Given the description of an element on the screen output the (x, y) to click on. 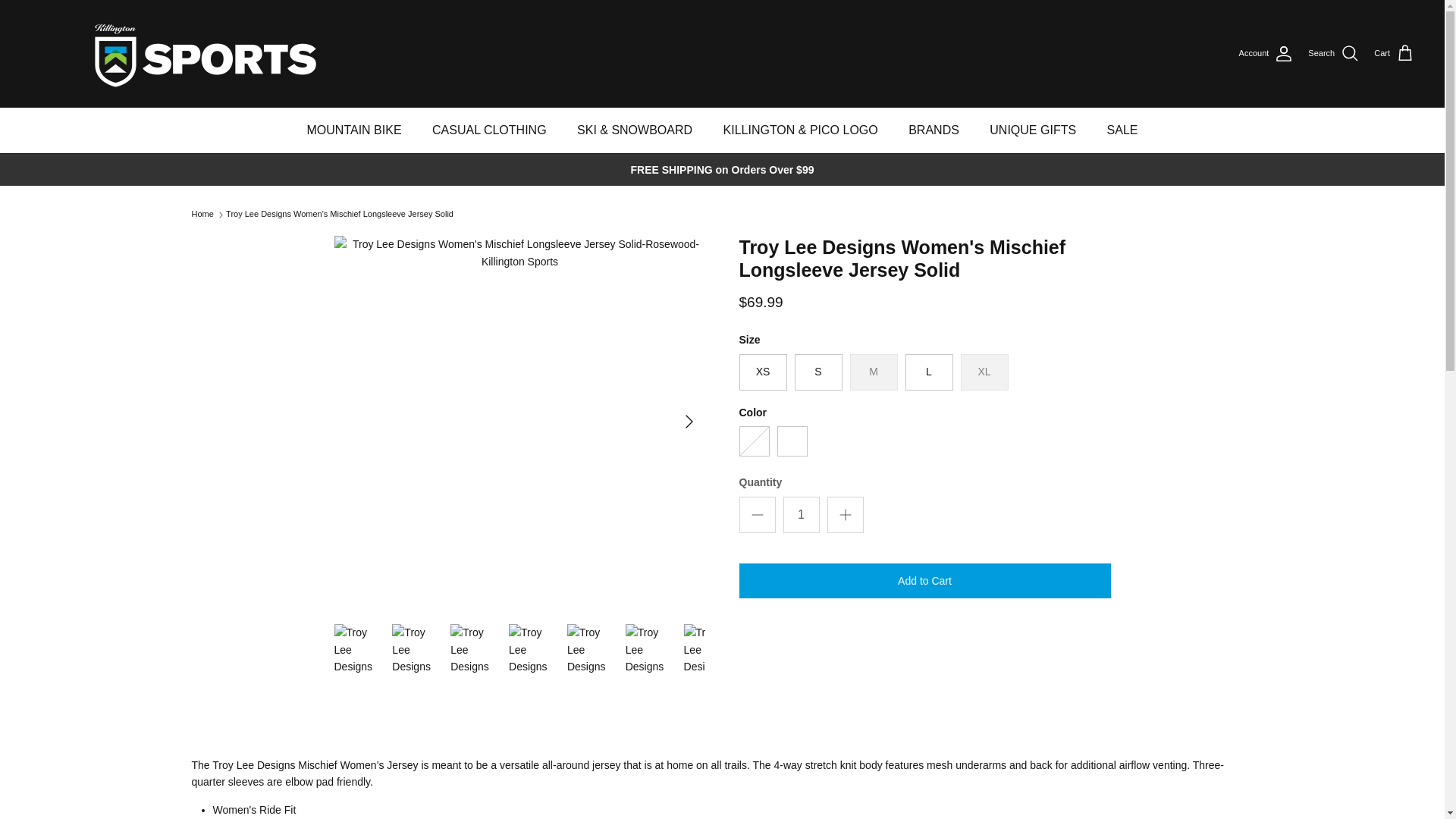
1 (800, 514)
Plus (844, 515)
Killington Sports (189, 53)
Cart (1393, 53)
Right (688, 421)
Minus (756, 515)
MOUNTAIN BIKE (354, 130)
Account (1266, 53)
Search (1332, 53)
